Given the description of an element on the screen output the (x, y) to click on. 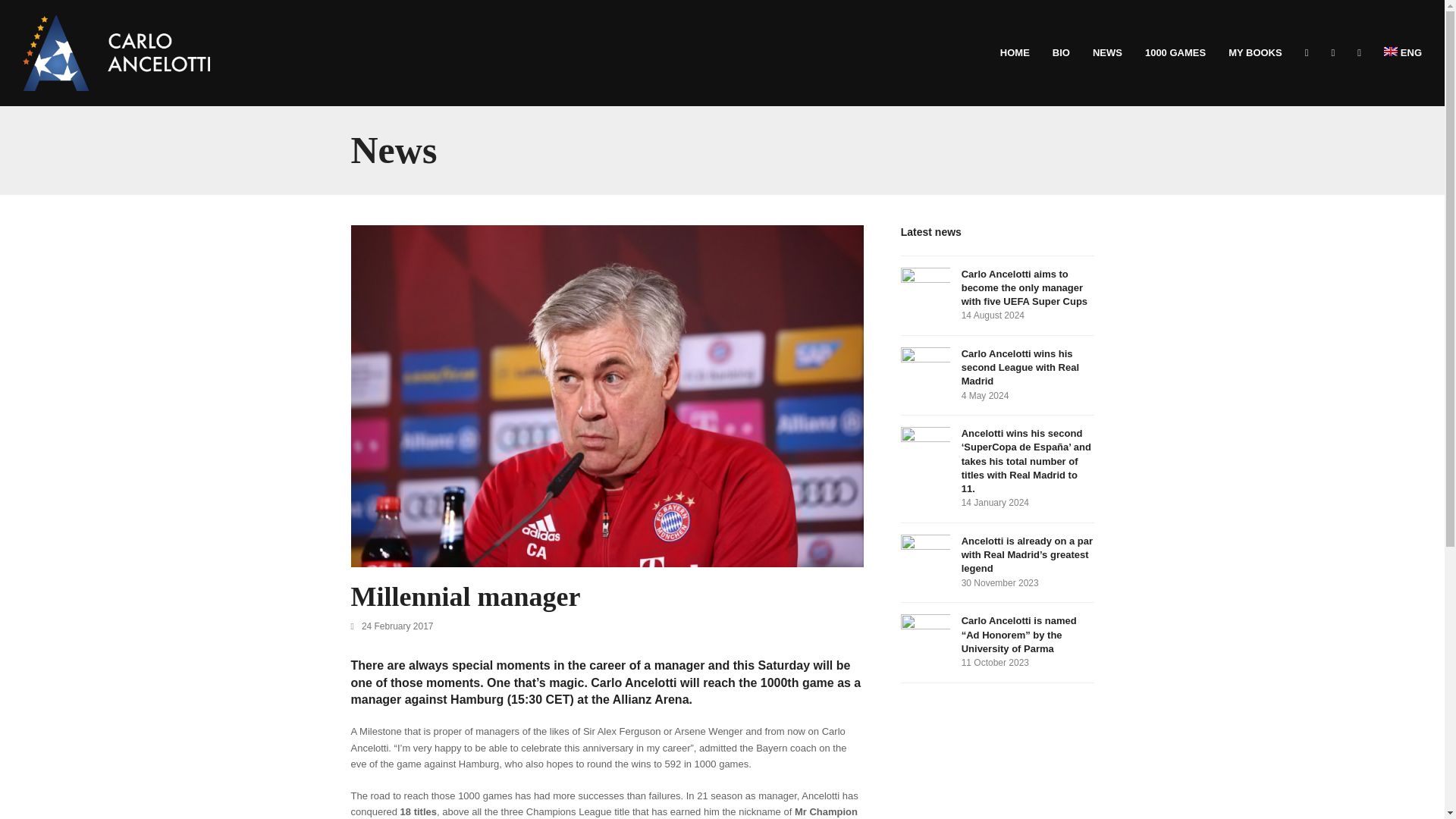
BIO (1061, 53)
1000 GAMES (1175, 53)
NEWS (1107, 53)
ENG (1402, 53)
HOME (1014, 53)
MY BOOKS (1255, 53)
ENG (1402, 53)
